Given the description of an element on the screen output the (x, y) to click on. 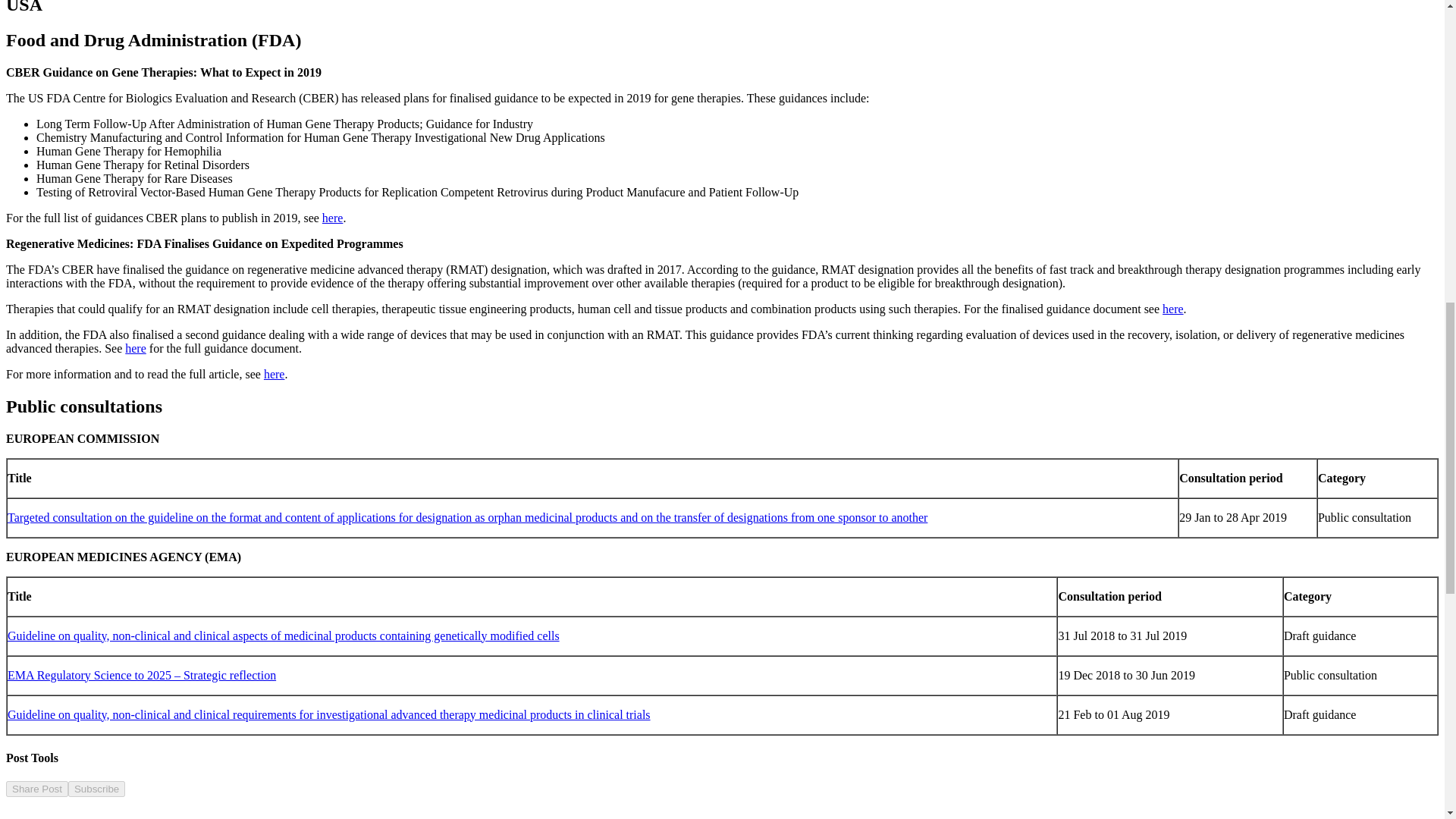
here (274, 373)
Subscribe (96, 788)
here (1172, 308)
Share Post (36, 788)
here (136, 348)
iframe (118, 807)
here (332, 217)
